Given the description of an element on the screen output the (x, y) to click on. 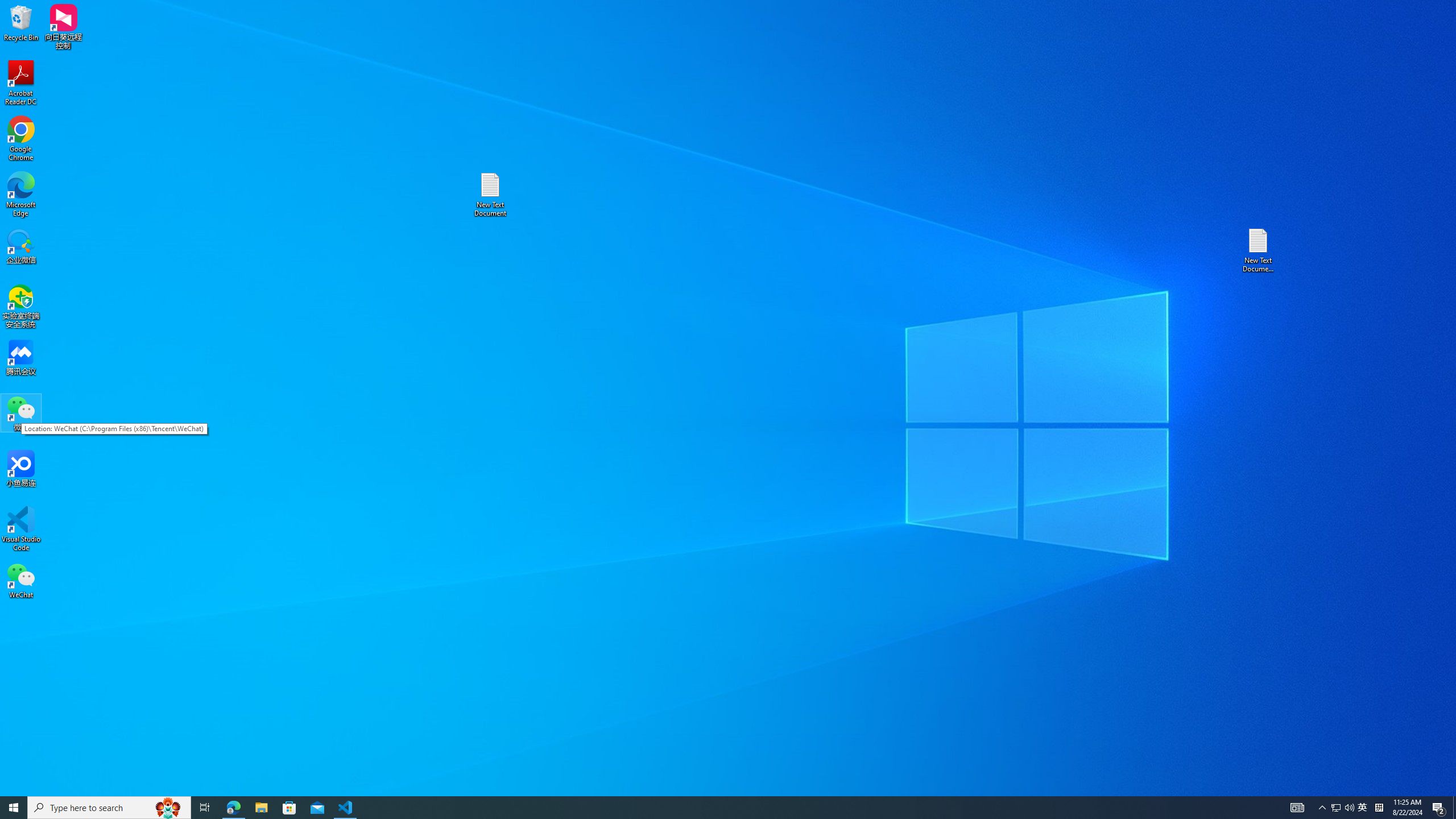
Recycle Bin (21, 22)
Microsoft Edge (21, 194)
Google Chrome (21, 138)
New Text Document (489, 194)
Running applications (707, 807)
New Text Document (2) (1258, 250)
WeChat (21, 580)
